Given the description of an element on the screen output the (x, y) to click on. 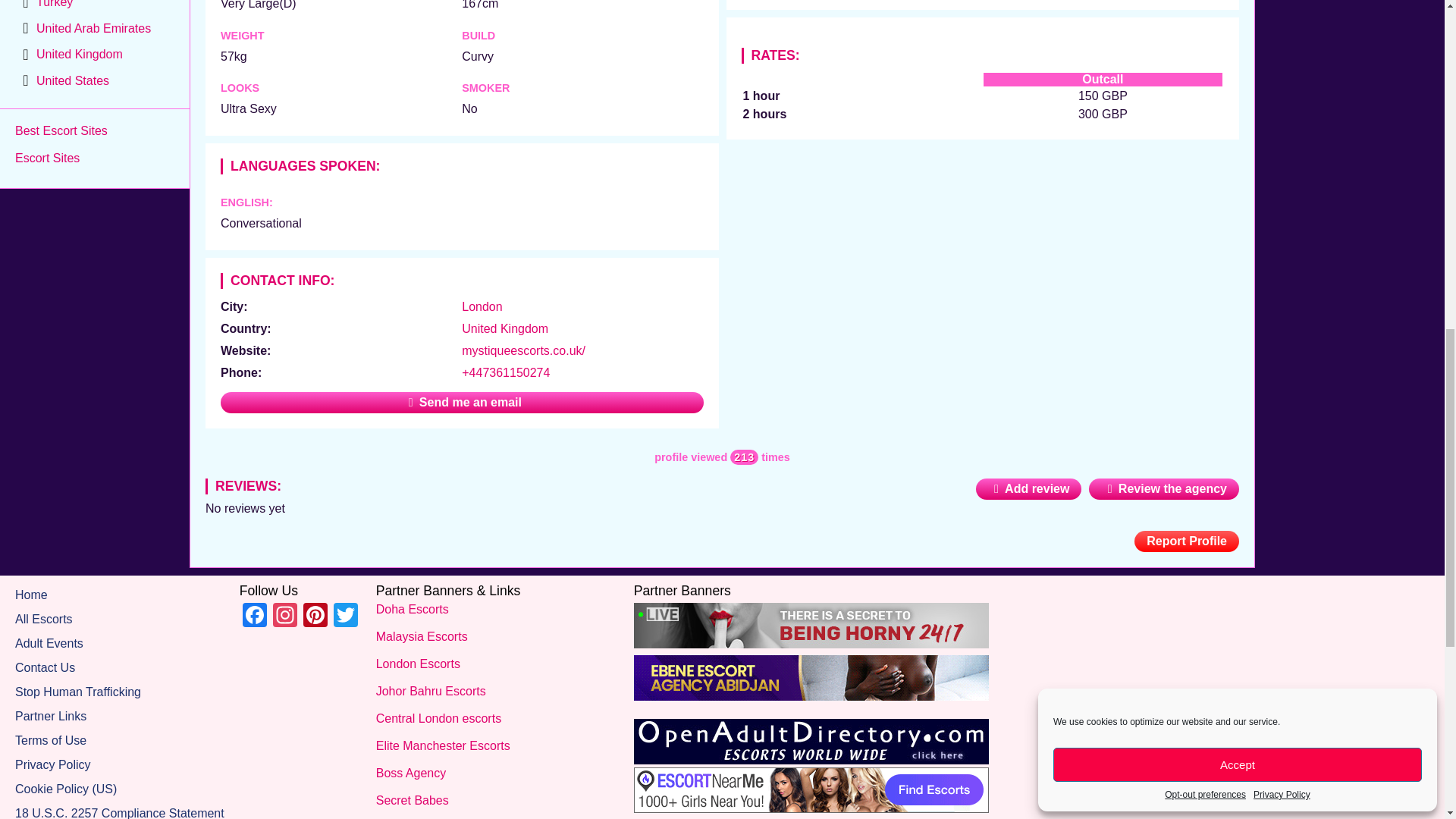
United Kingdom (504, 328)
London (481, 306)
Best Escort Sites (60, 130)
